Given the description of an element on the screen output the (x, y) to click on. 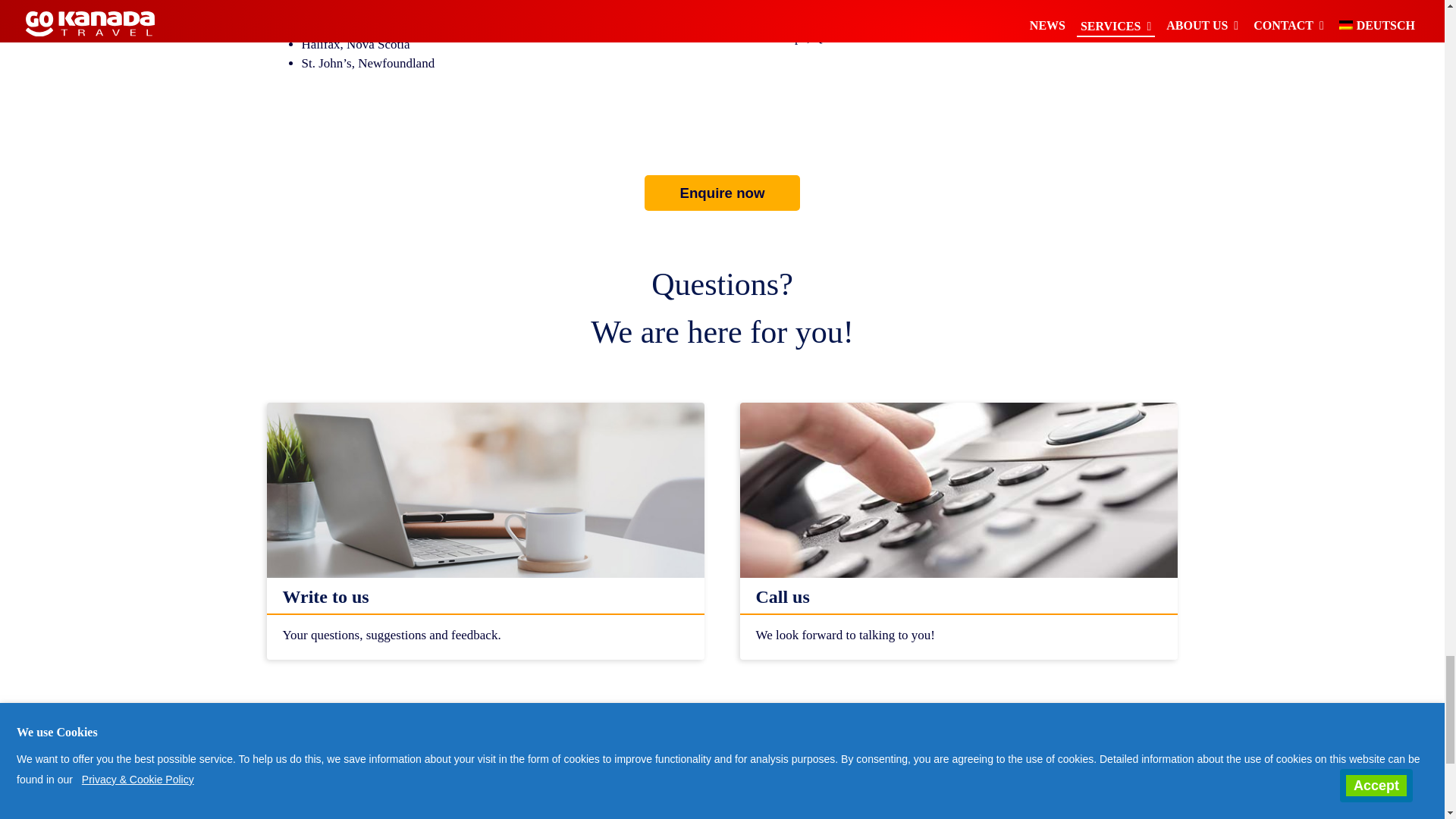
Enquire now (722, 192)
